Given the description of an element on the screen output the (x, y) to click on. 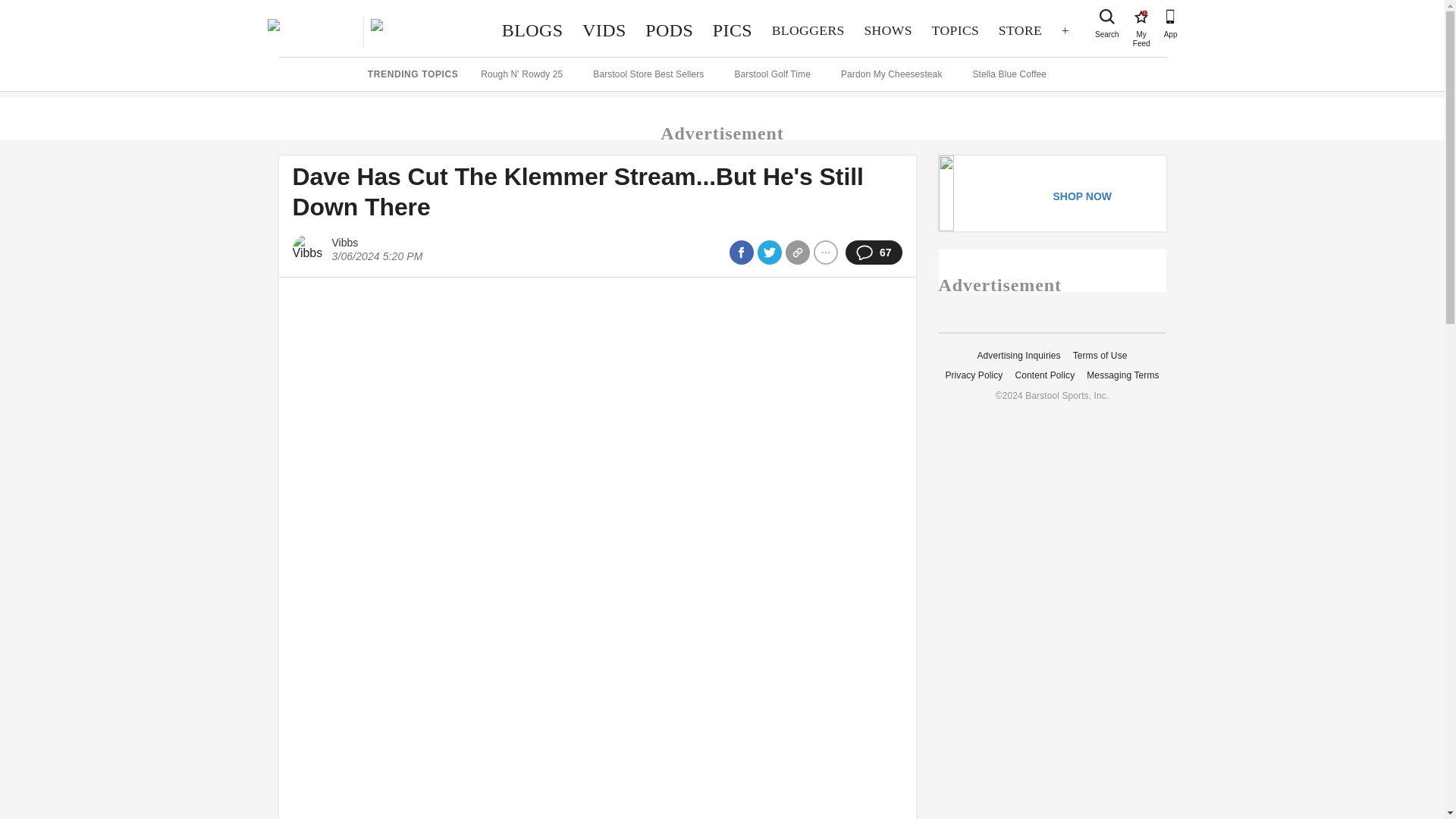
BLOGGERS (807, 30)
STORE (1019, 30)
VIDS (603, 30)
BLOGS (532, 30)
PODS (668, 30)
PICS (732, 30)
SHOWS (887, 30)
Search (1107, 16)
TOPICS (1141, 16)
